Given the description of an element on the screen output the (x, y) to click on. 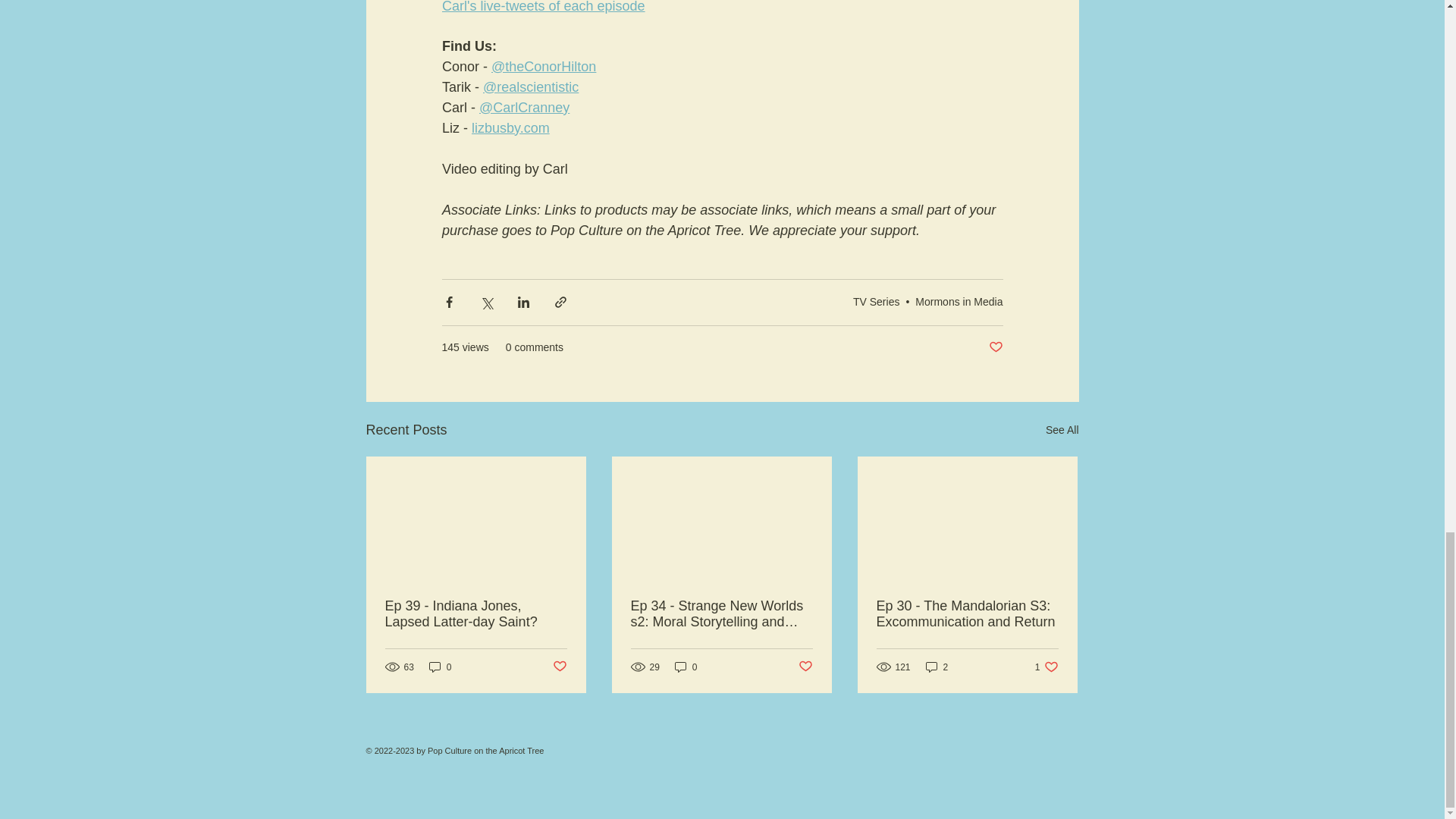
Carl's live-tweets of each episode (543, 6)
TV Series (876, 301)
lizbusby.com (510, 127)
